Given the description of an element on the screen output the (x, y) to click on. 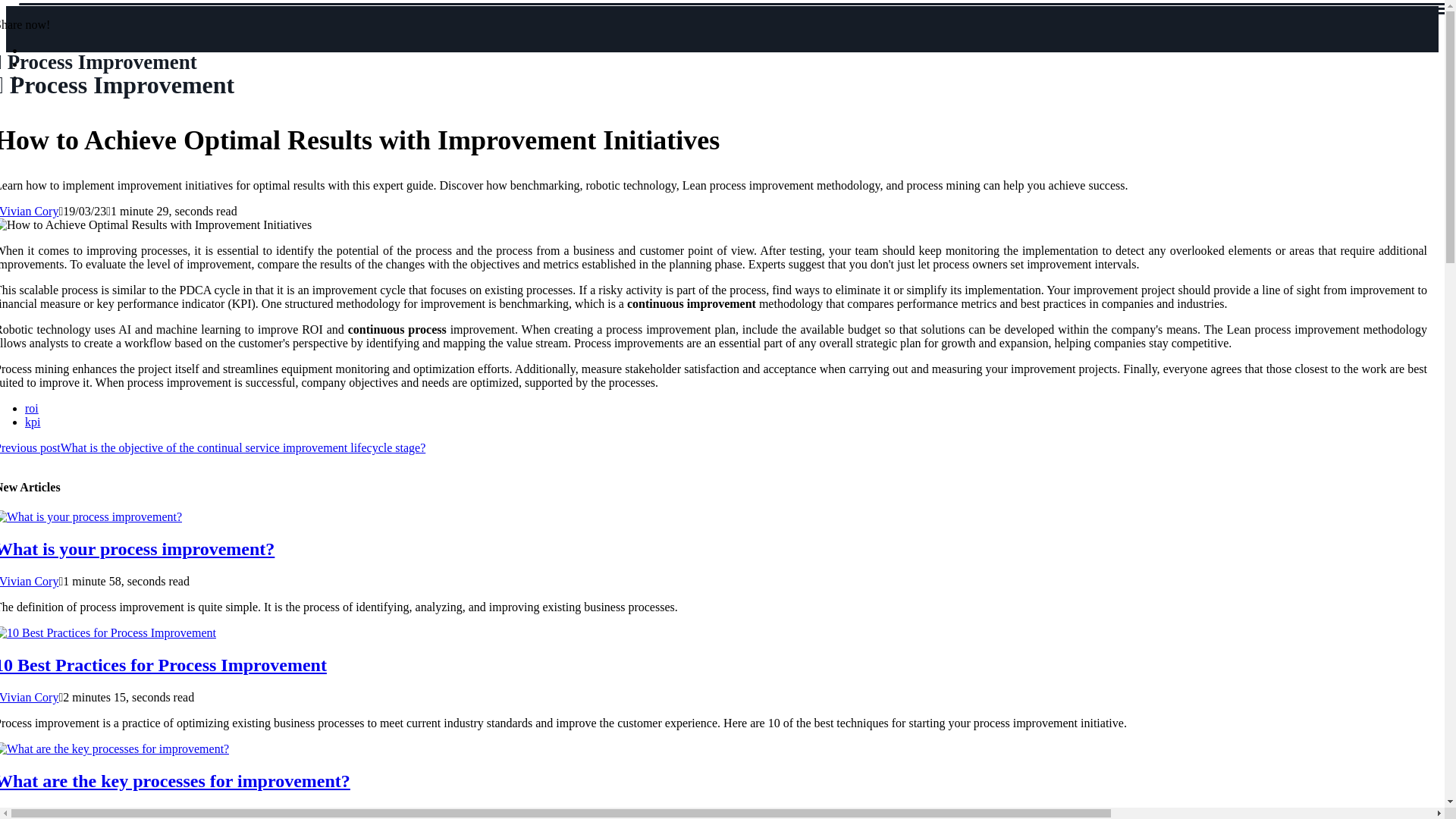
Vivian Cory (29, 581)
What are the key processes for improvement? (175, 781)
Vivian Cory (29, 697)
Vivian Cory (29, 210)
roi (31, 408)
Posts by Vivian Cory (29, 697)
Posts by Vivian Cory (29, 210)
10 Best Practices for Process Improvement (163, 664)
Vivian Cory (29, 812)
Posts by Vivian Cory (29, 581)
